Given the description of an element on the screen output the (x, y) to click on. 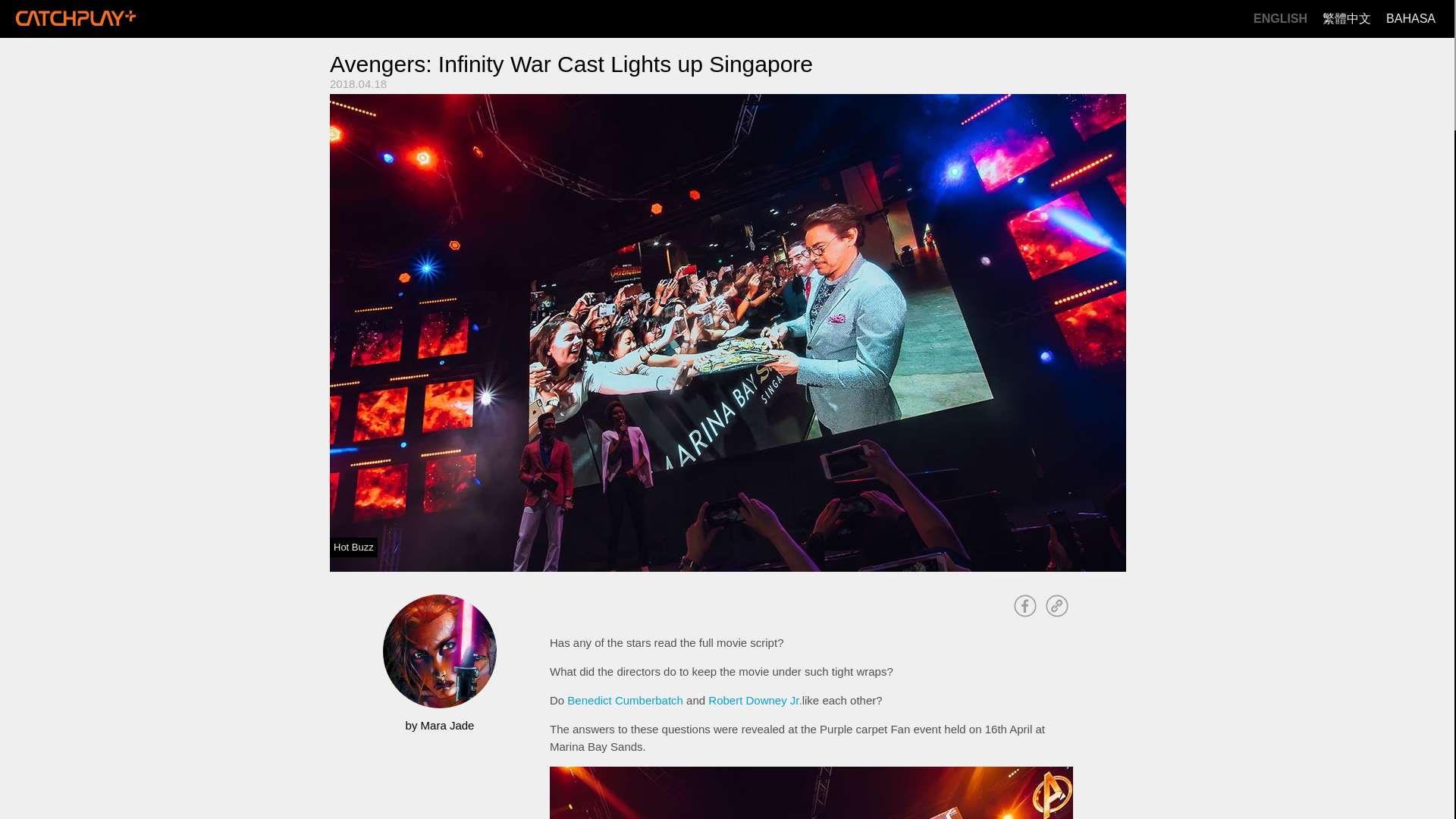
BAHASA (1410, 19)
Benedict Cumberbatch (624, 699)
ENGLISH (1280, 19)
Robert Downey Jr. (754, 699)
